Given the description of an element on the screen output the (x, y) to click on. 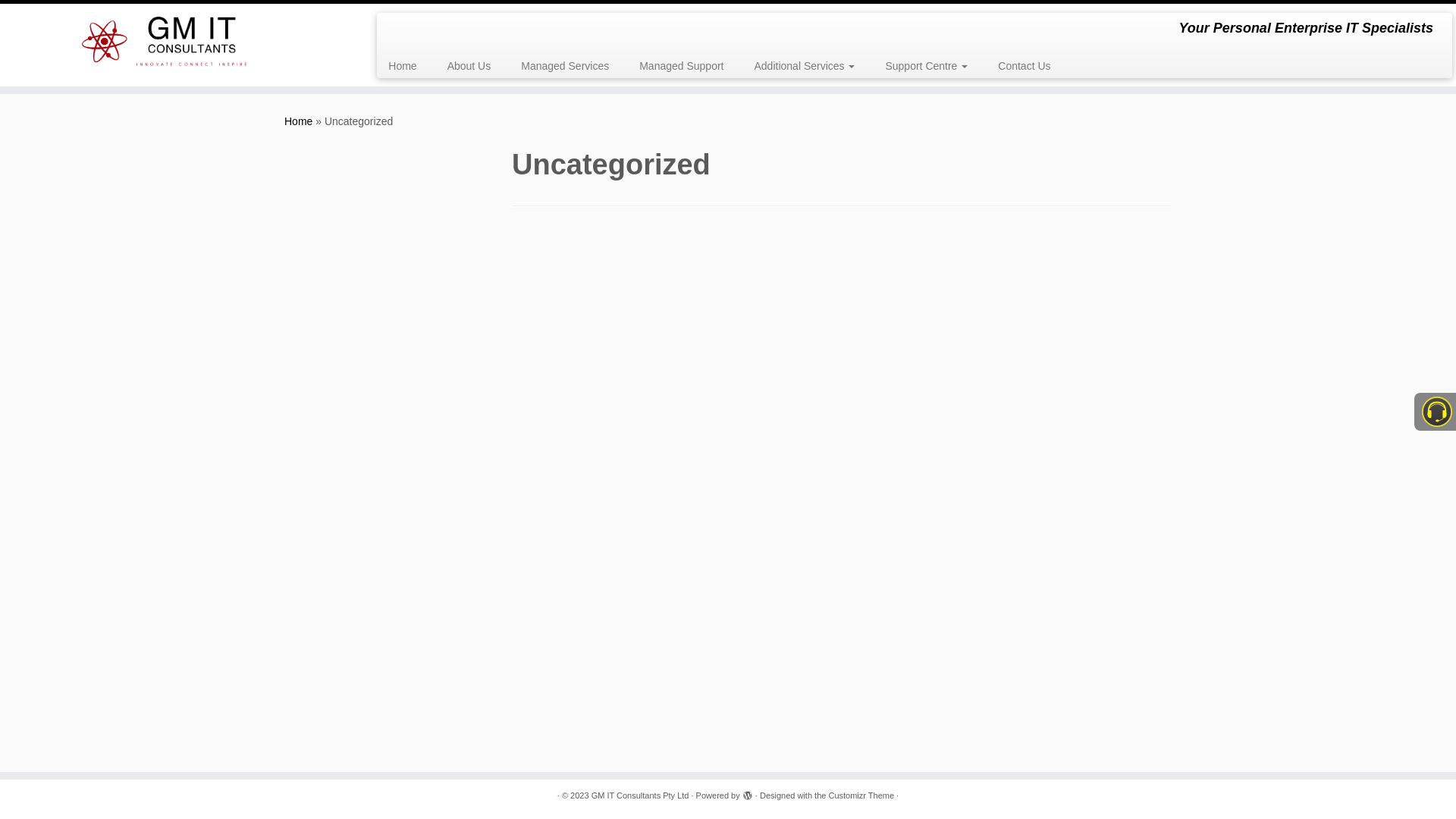
Support Centre Element type: text (925, 65)
Contact Us Element type: text (1016, 65)
Managed Support Element type: text (681, 65)
About Us Element type: text (469, 65)
Additional Services Element type: text (803, 65)
GM IT Consultants Pty Ltd Element type: text (640, 795)
Home Element type: text (298, 121)
Customizr Theme Element type: text (861, 795)
Home Element type: text (407, 65)
Powered by WordPress Element type: hover (747, 792)
Managed Services Element type: text (564, 65)
